Given the description of an element on the screen output the (x, y) to click on. 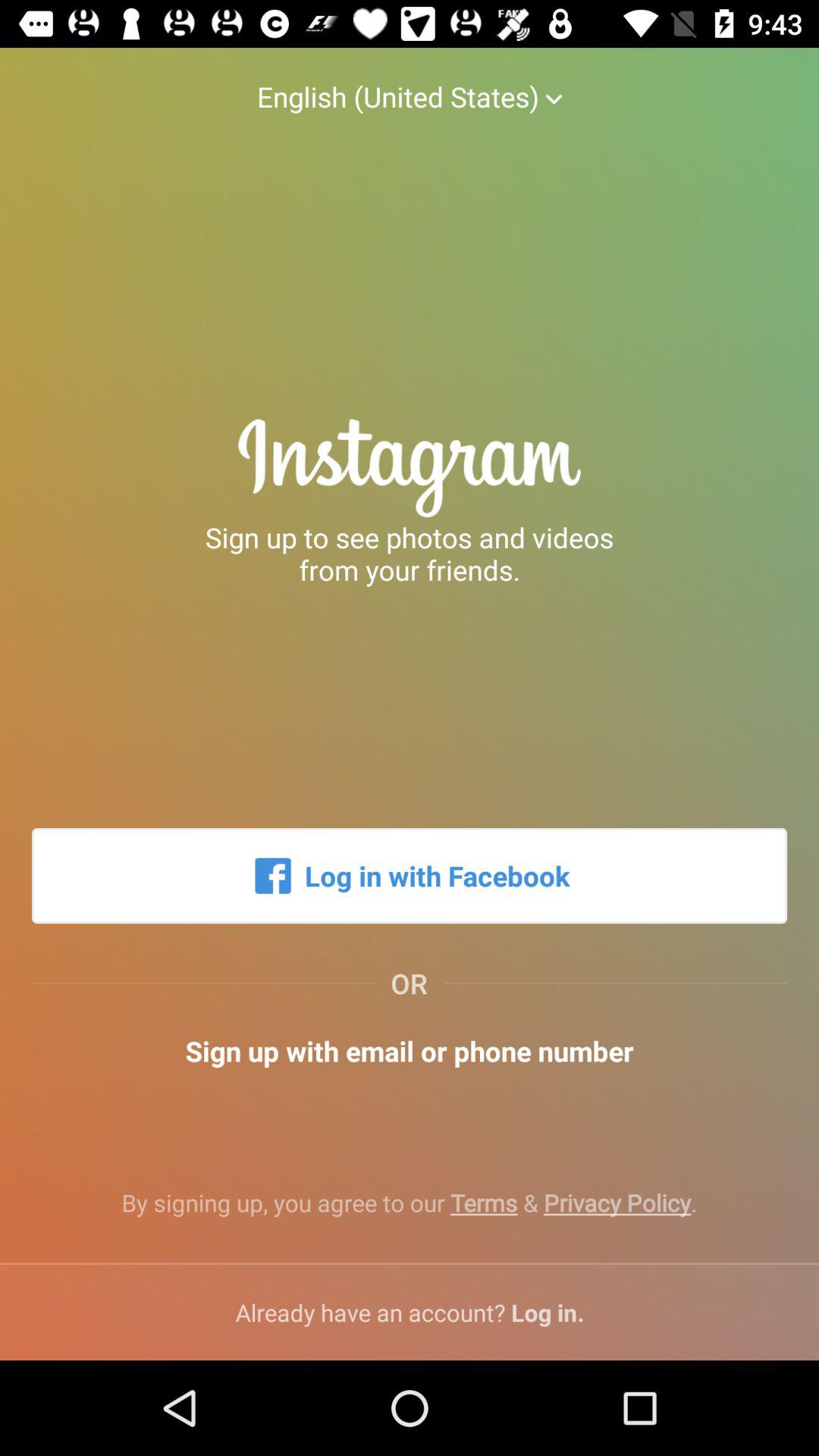
jump to the already have an app (409, 1312)
